Given the description of an element on the screen output the (x, y) to click on. 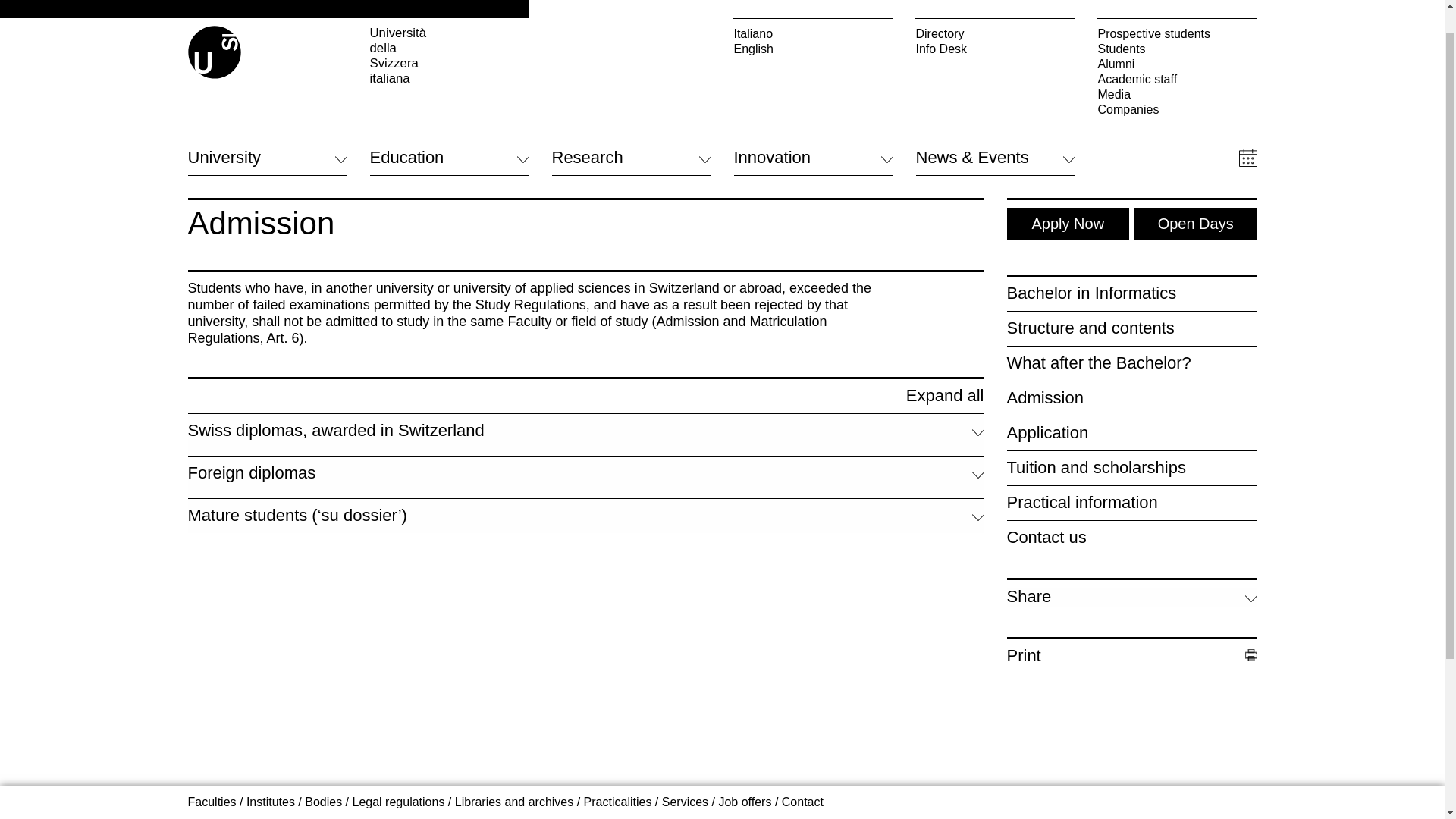
Academic staff (1176, 49)
Info Desk (994, 19)
Media (1176, 64)
Prospective students (1176, 6)
Italiano (812, 6)
English (812, 19)
Directory (994, 6)
Companies (1176, 79)
Students (1176, 19)
Alumni (1176, 34)
